Given the description of an element on the screen output the (x, y) to click on. 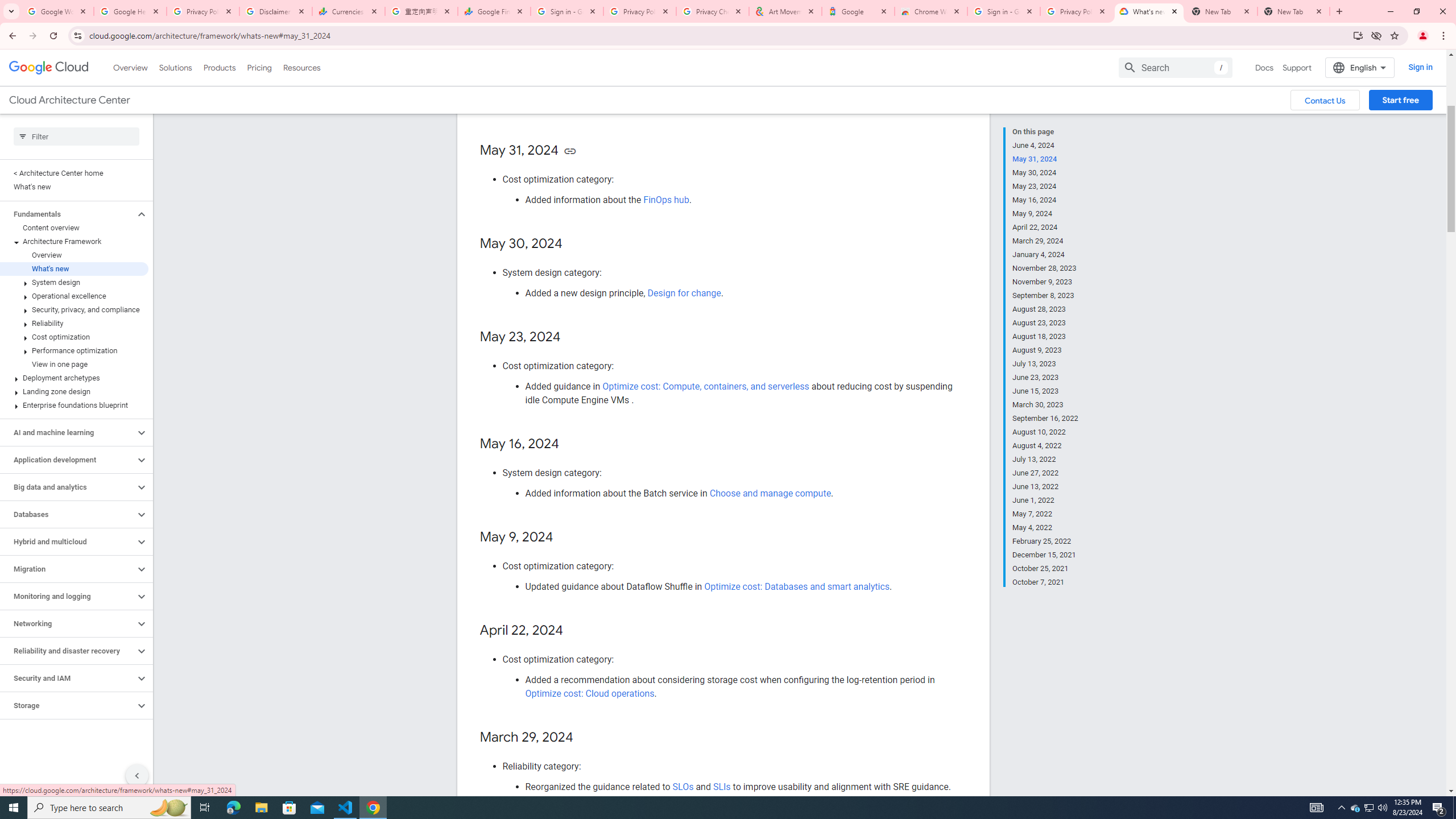
SLIs (720, 786)
February 25, 2022 (1044, 540)
What's new (74, 269)
Architecture Framework (74, 241)
Optimize cost: Databases and smart analytics (796, 586)
Content overview (74, 228)
Google Cloud (48, 67)
Operational excellence (74, 296)
Chrome Web Store - Color themes by Chrome (930, 11)
Enterprise foundations blueprint (74, 404)
Big data and analytics (67, 486)
Databases (67, 514)
Application development (67, 459)
